Given the description of an element on the screen output the (x, y) to click on. 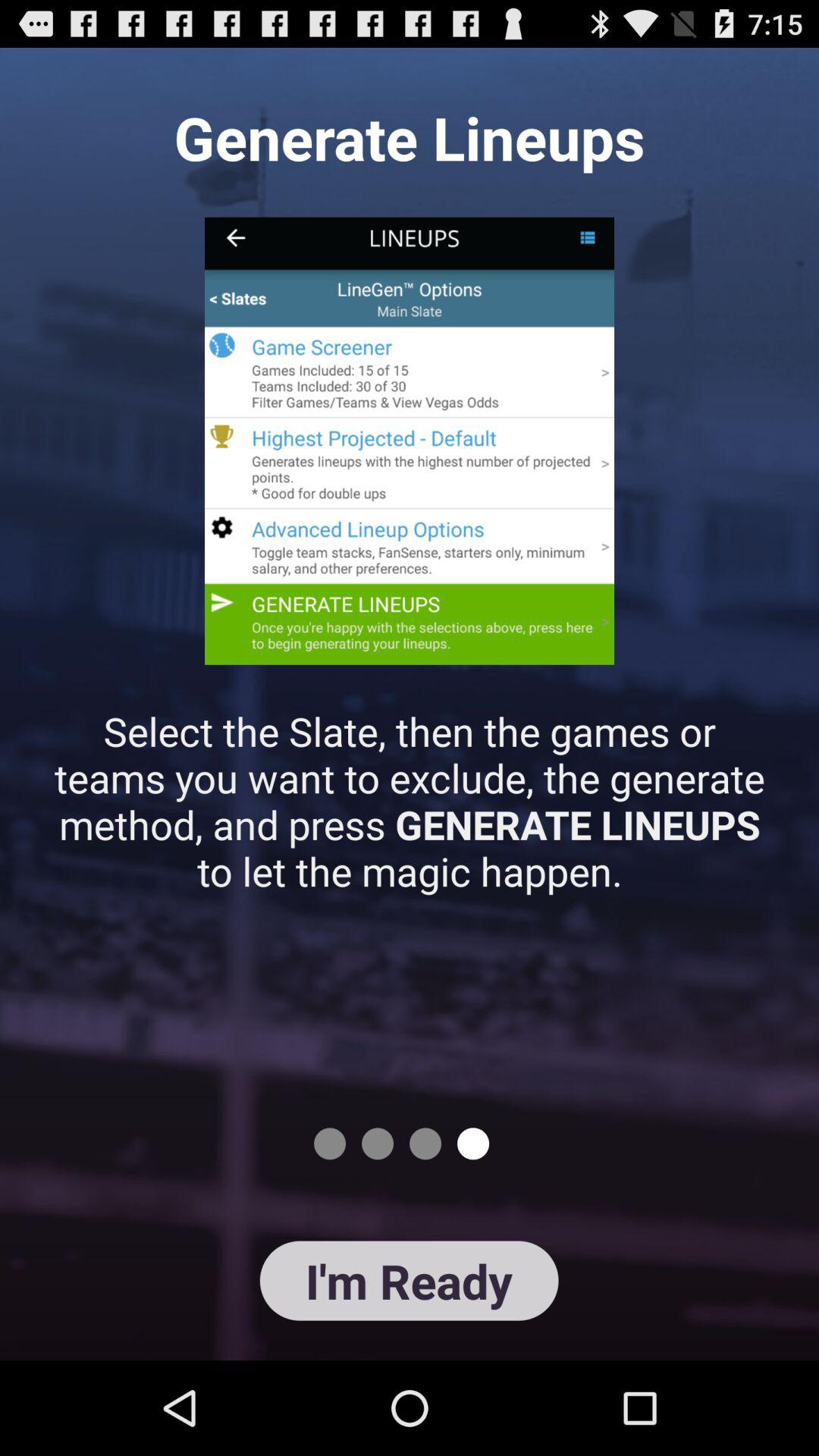
swipe to the i'm ready button (408, 1280)
